Given the description of an element on the screen output the (x, y) to click on. 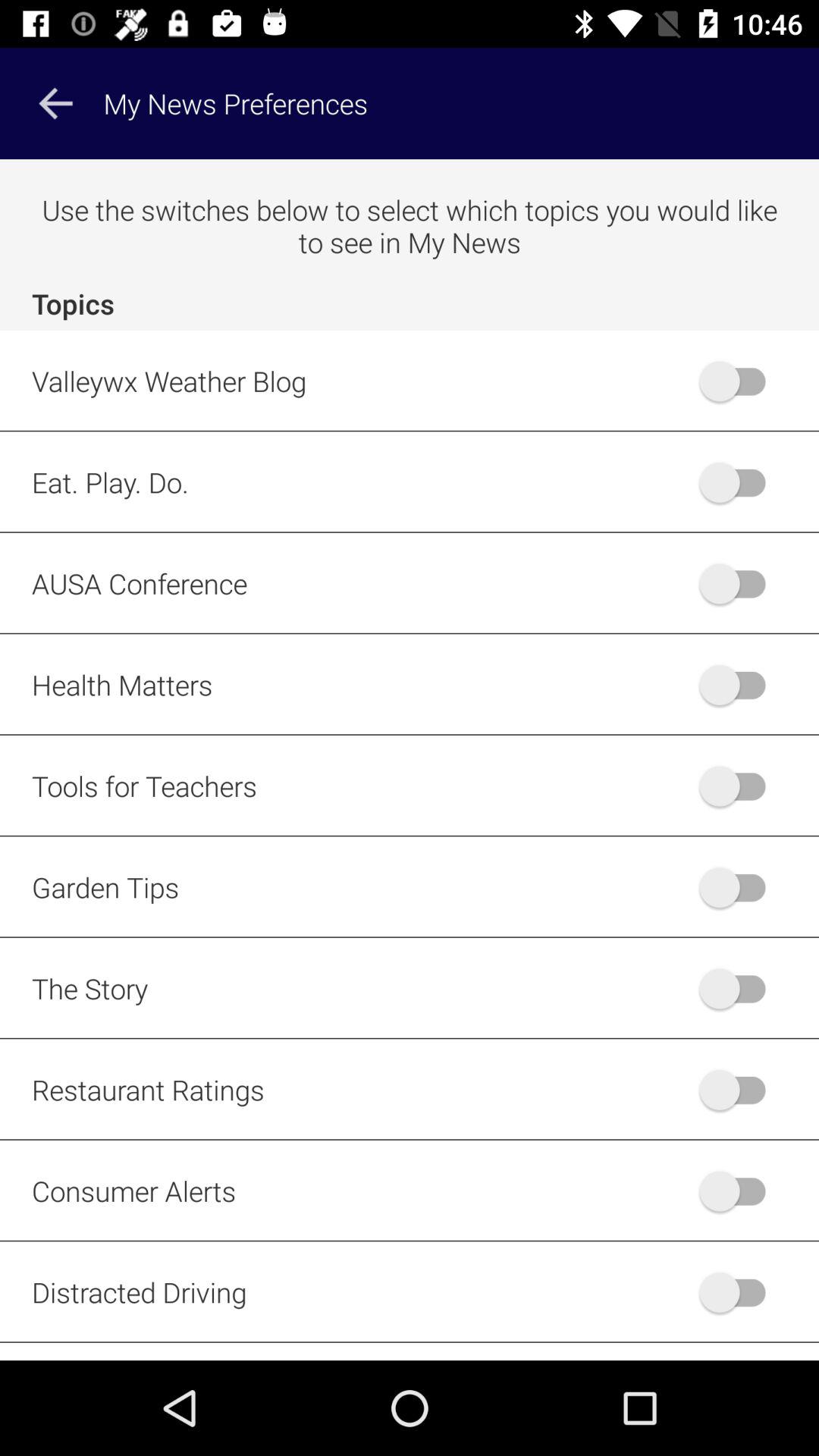
toggle restaurant ratings (739, 1089)
